Given the description of an element on the screen output the (x, y) to click on. 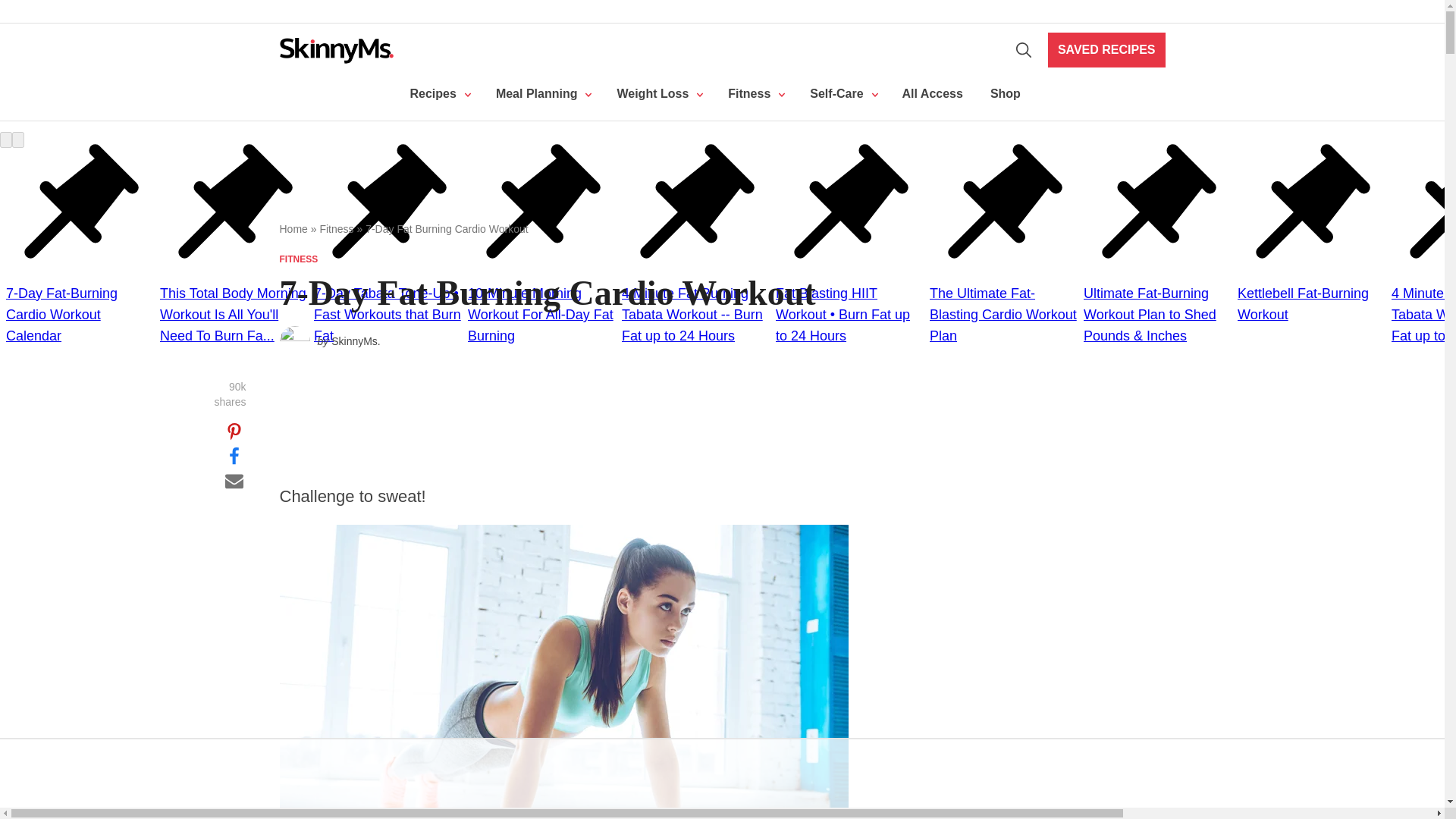
Recipes (438, 94)
Share on Facebook (233, 454)
SAVED RECIPES (1107, 49)
Share on Pinterest (233, 430)
Share via Email (233, 478)
Skinny Ms. (336, 49)
Weight Loss Recipes And Menus (541, 94)
Search (1023, 49)
